Given the description of an element on the screen output the (x, y) to click on. 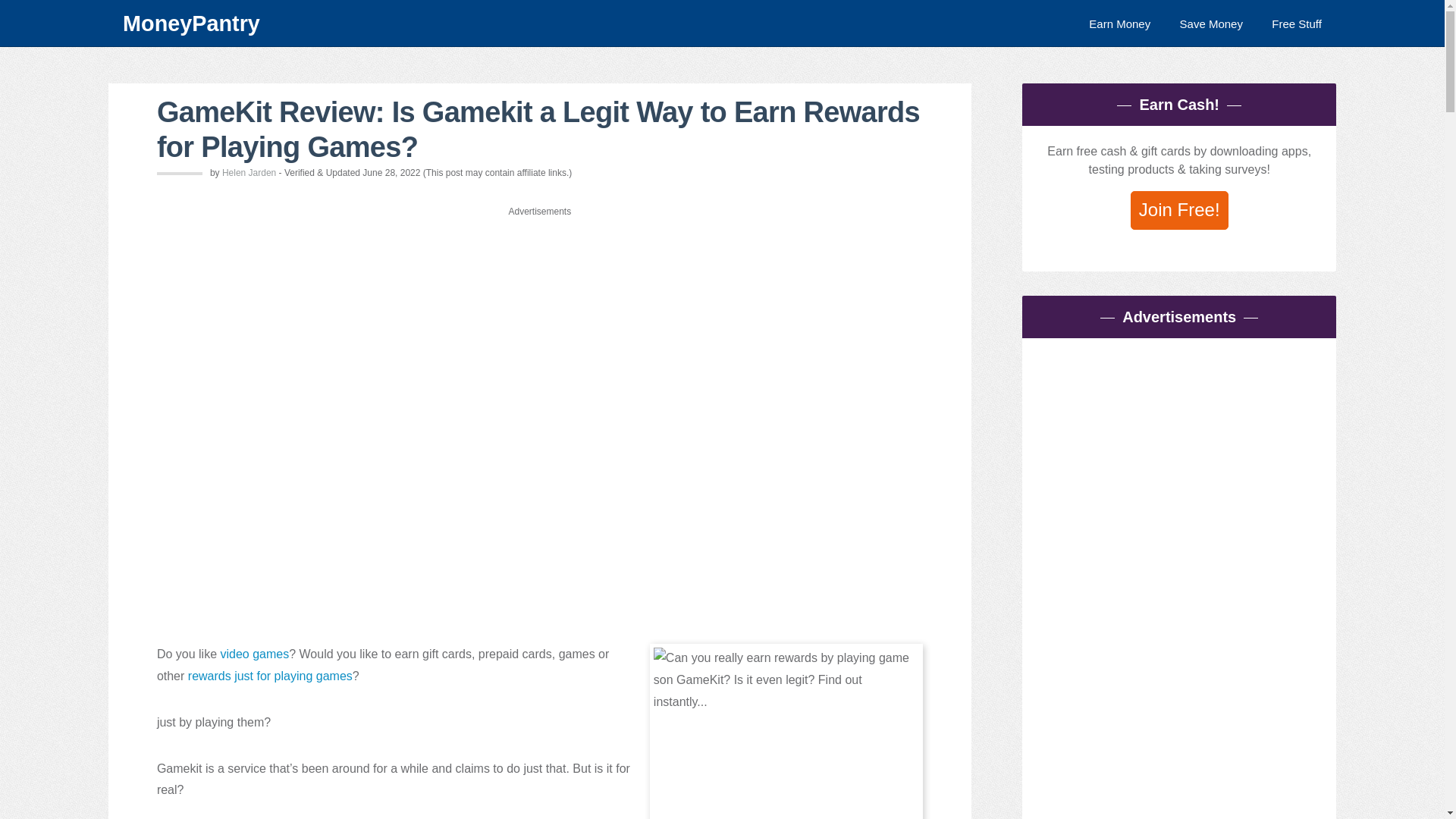
rewards just for playing games (269, 675)
Save Money (1210, 22)
Helen Jarden (249, 172)
video games (253, 653)
MoneyPantry (482, 22)
Earn Money (1119, 22)
Playing MMO game online (786, 731)
Free Stuff (1296, 22)
